Given the description of an element on the screen output the (x, y) to click on. 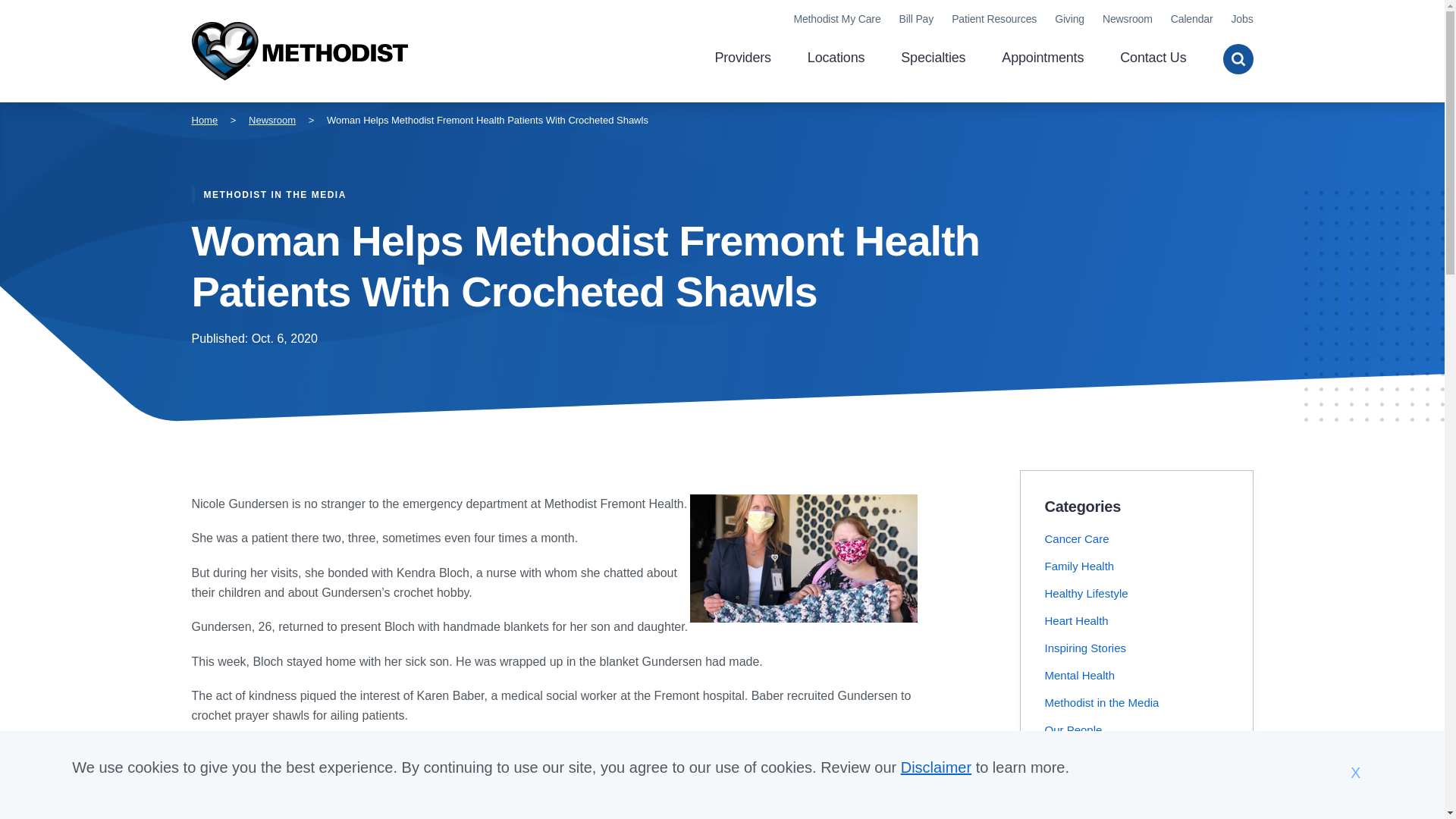
Home (298, 51)
Giving (1069, 19)
Today's Medicine (1088, 811)
Mental Health (1080, 675)
Providers (742, 59)
Jobs (1241, 19)
Bill Pay (916, 19)
Family Health (1080, 565)
Patient Resources (994, 19)
Newsroom (271, 120)
Methodist My Care (836, 19)
Locations (836, 59)
Press Releases (1084, 757)
